Given the description of an element on the screen output the (x, y) to click on. 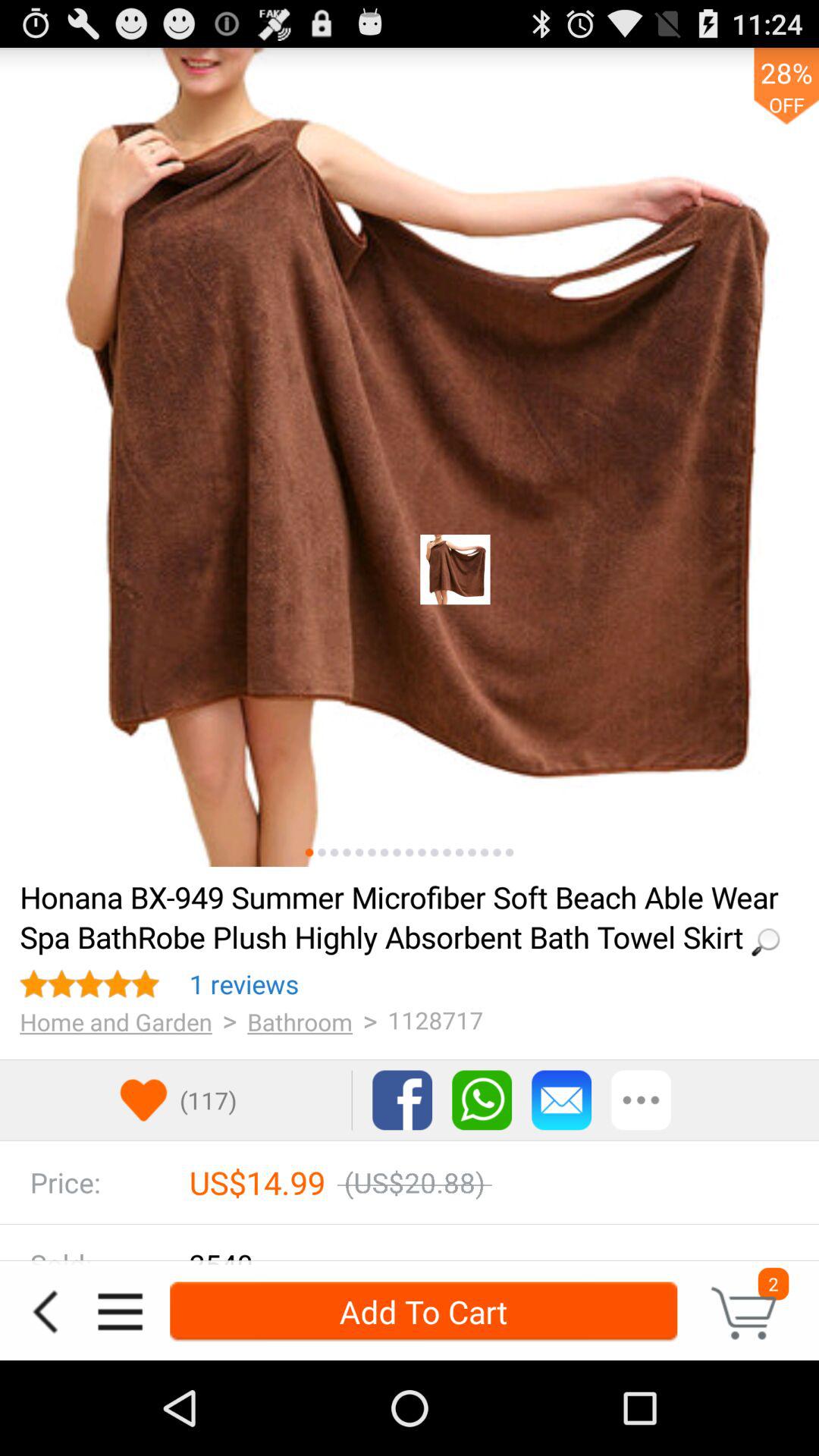
go to photo (497, 852)
